Given the description of an element on the screen output the (x, y) to click on. 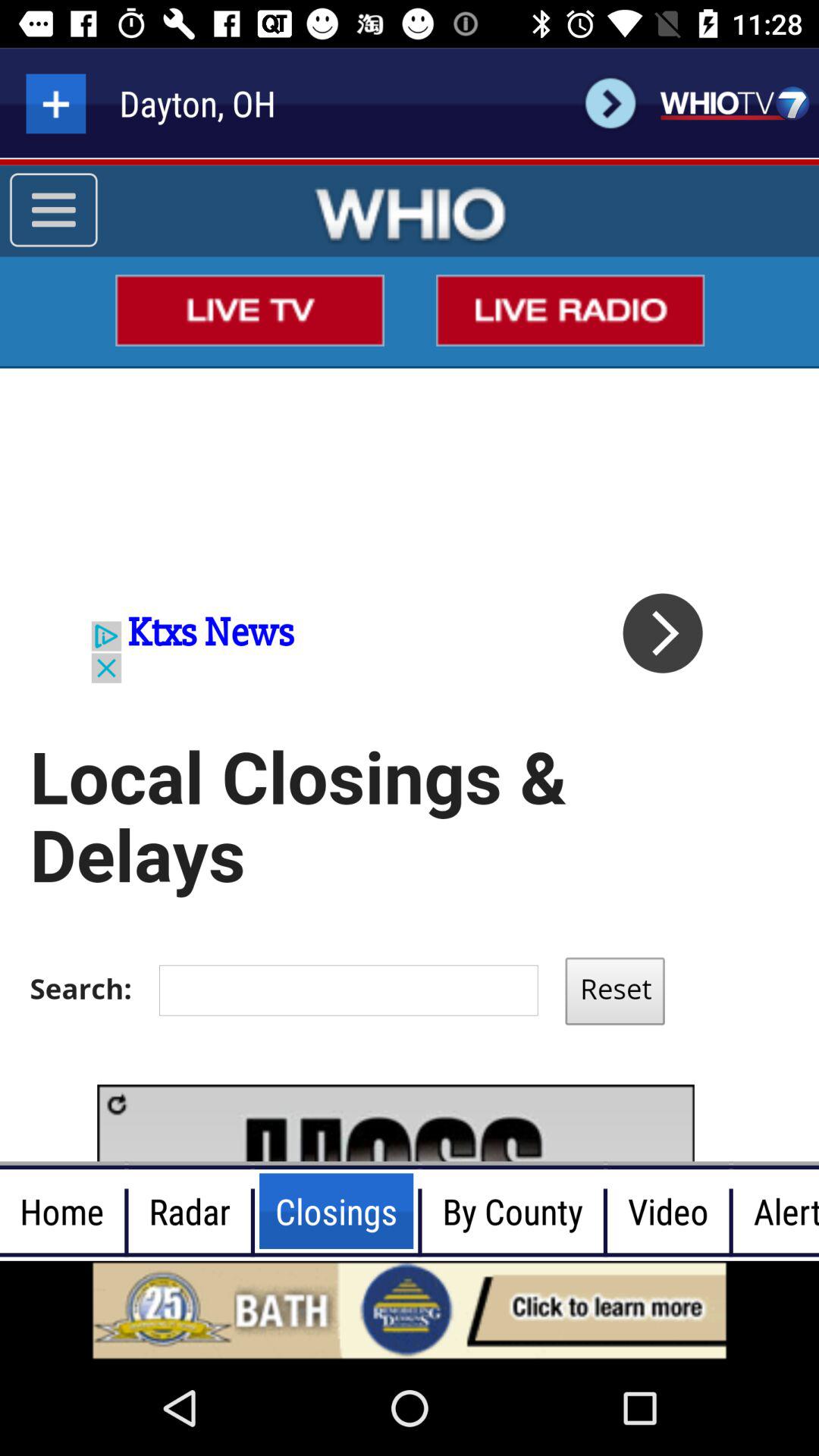
go back (610, 103)
